Given the description of an element on the screen output the (x, y) to click on. 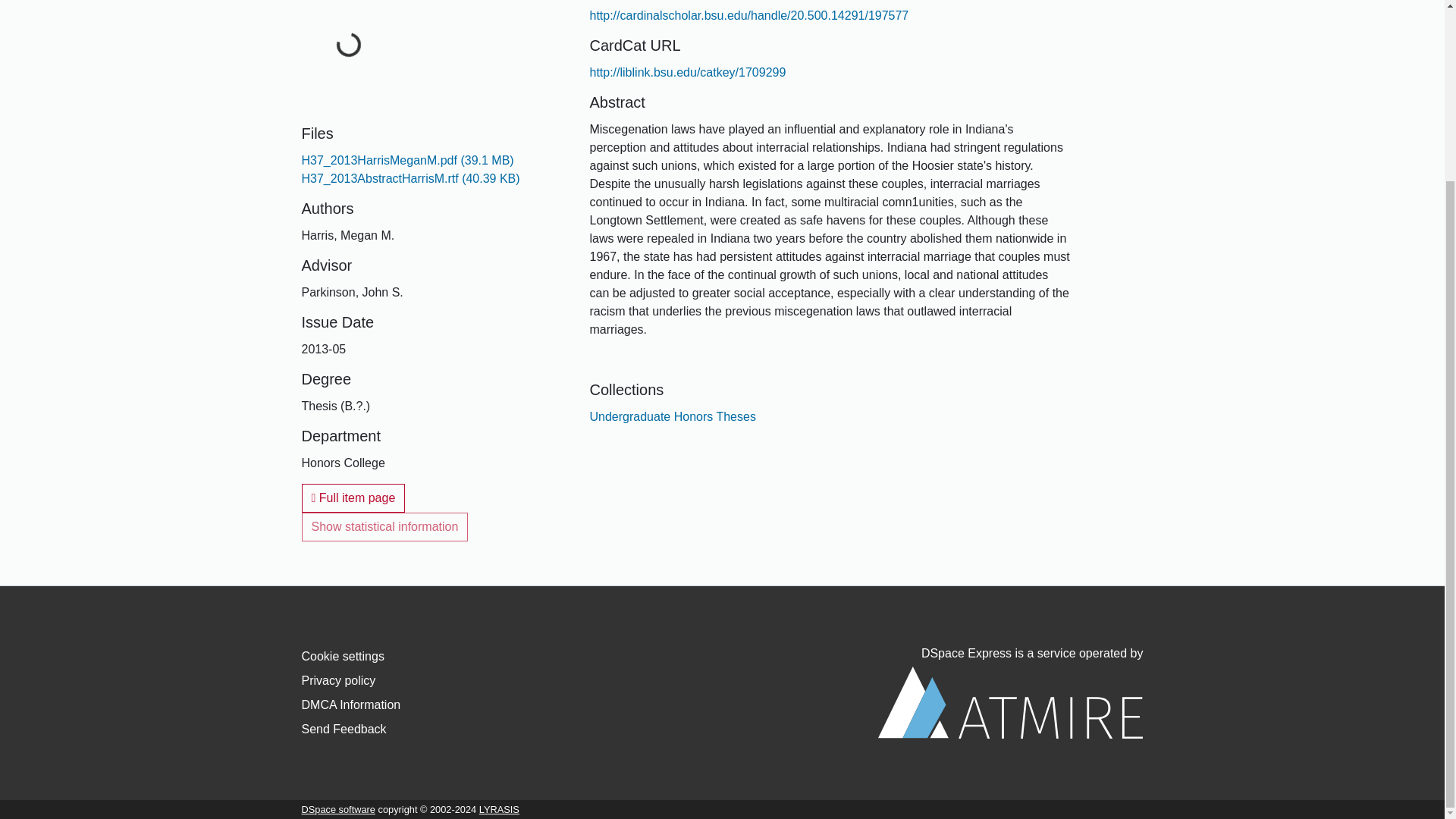
Cookie settings (342, 656)
DSpace Express is a service operated by (1009, 692)
DMCA Information (351, 704)
Privacy policy (338, 680)
Undergraduate Honors Theses (672, 416)
Show statistical information (384, 526)
LYRASIS (499, 808)
Send Feedback (344, 728)
Full item page (353, 498)
DSpace software (338, 808)
